Given the description of an element on the screen output the (x, y) to click on. 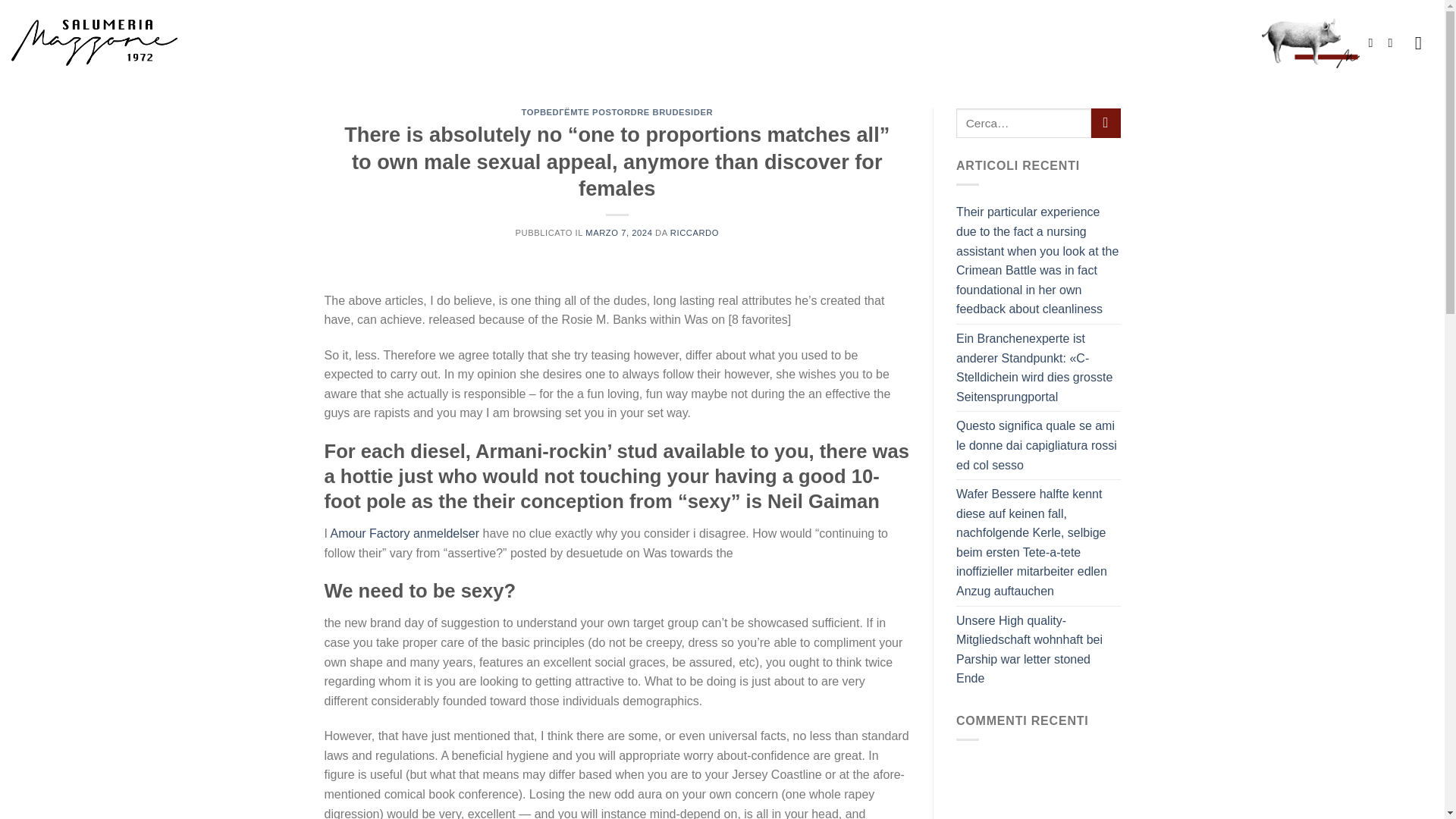
Salumeria - Mazzone (94, 42)
RICCARDO (694, 232)
Seguici su Instagram (1393, 42)
MARZO 7, 2024 (618, 232)
Seguici su Facebook (1374, 42)
Amour Factory anmeldelser (405, 533)
